Given the description of an element on the screen output the (x, y) to click on. 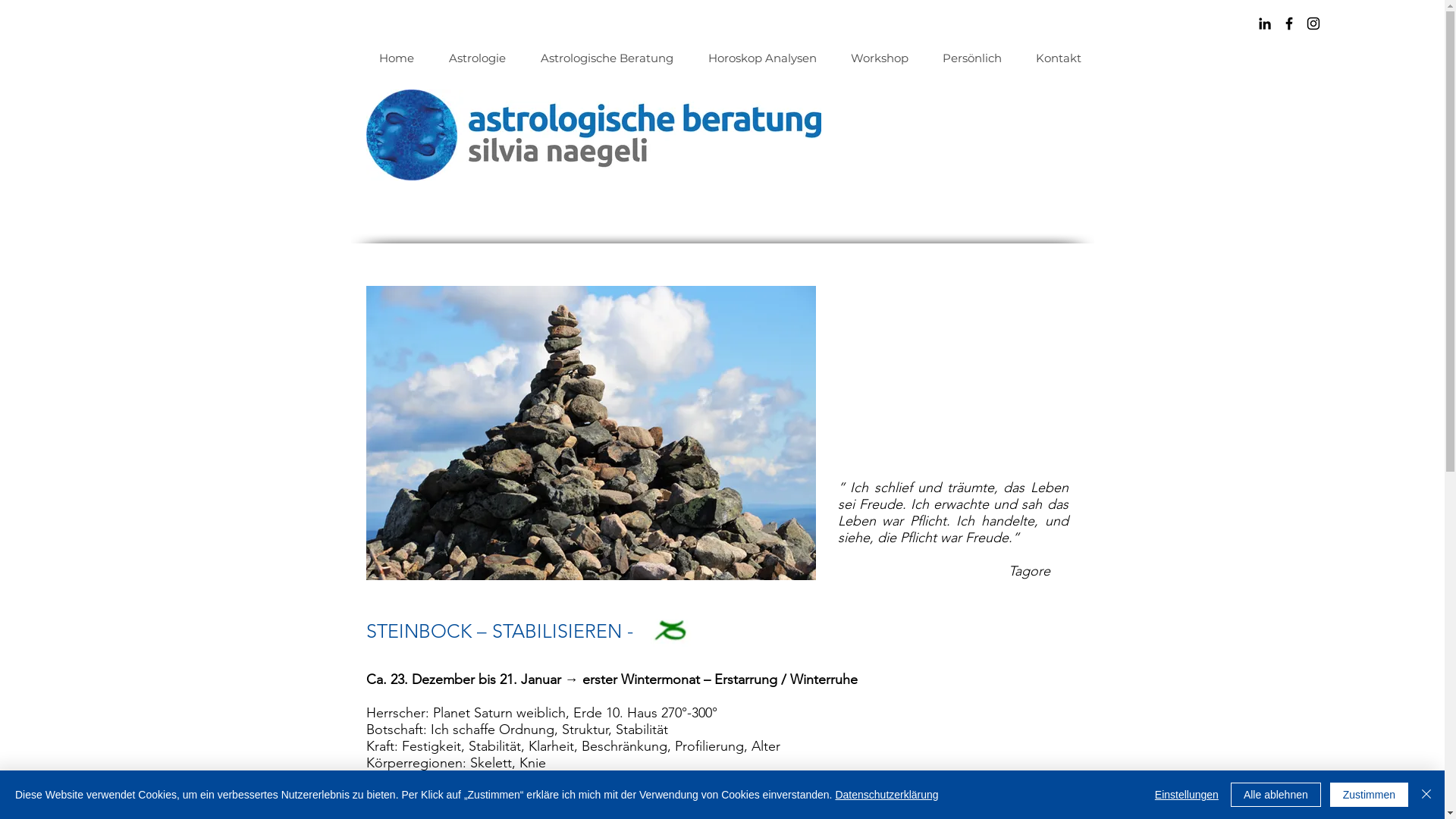
Astrologische Beratung Element type: text (606, 58)
Alle ablehnen Element type: text (1275, 794)
Zustimmen Element type: text (1369, 794)
Astrologie Element type: text (476, 58)
Horoskop Analysen Element type: text (761, 58)
Workshop Element type: text (878, 58)
Kontakt Element type: text (1057, 58)
Home Element type: text (396, 58)
